Given the description of an element on the screen output the (x, y) to click on. 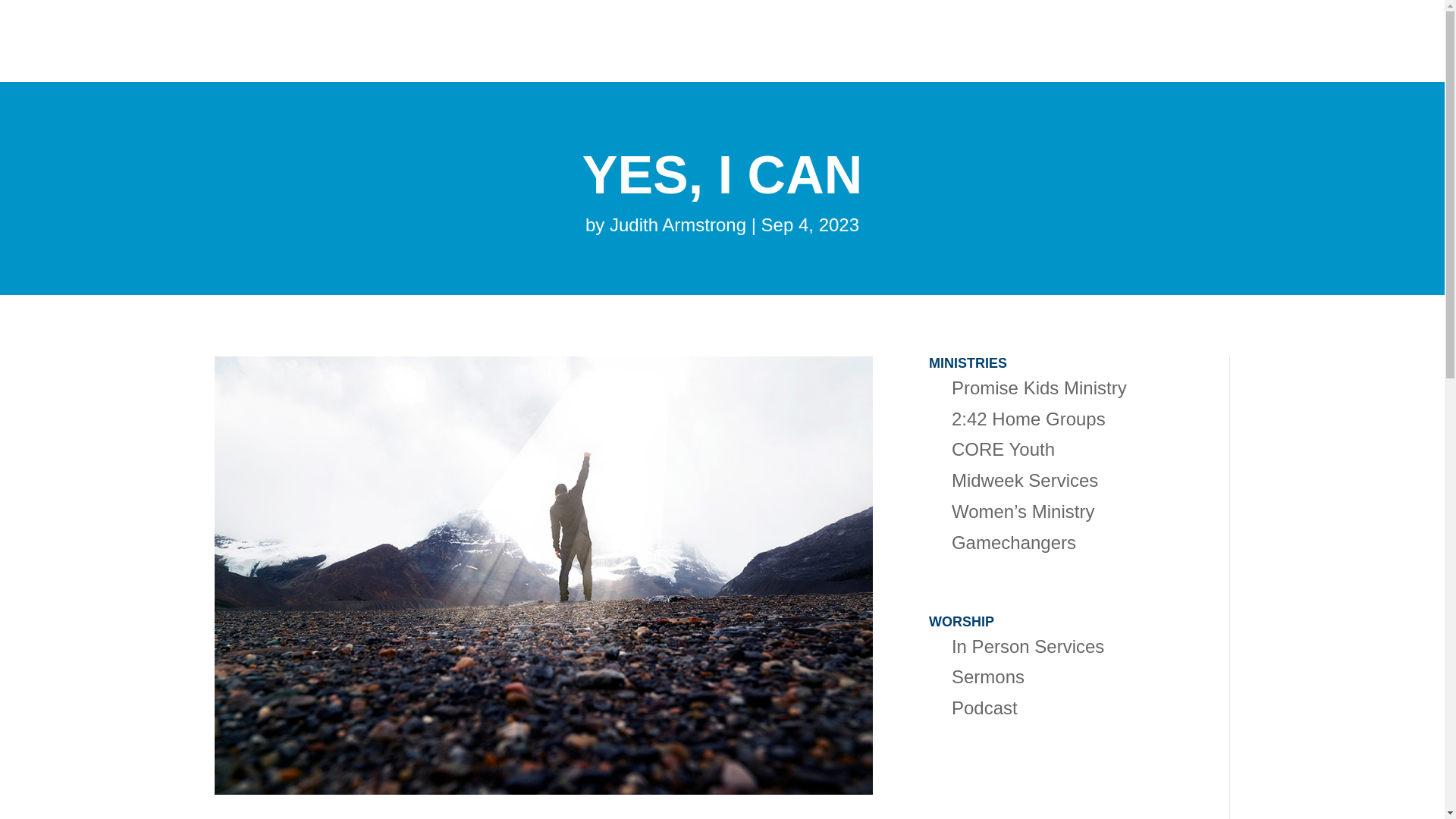
Posts by Judith Armstrong (677, 224)
